Given the description of an element on the screen output the (x, y) to click on. 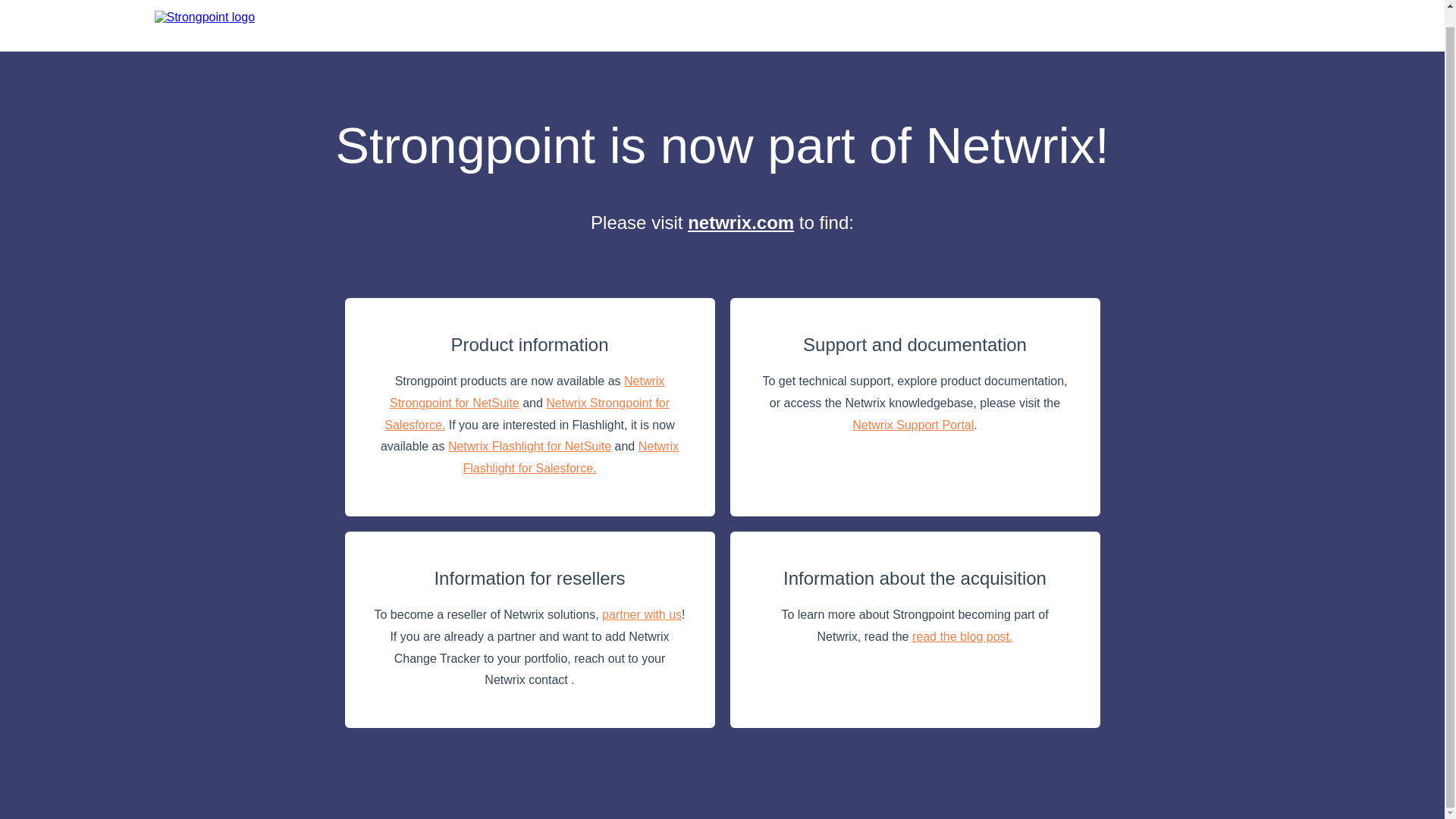
Netwrix Flashlight for NetSuite (529, 445)
Netwrix Support Portal (912, 424)
partner with us (641, 614)
Netwrix Strongpoint for Salesforce. (526, 413)
Netwrix Flashlight for Salesforce. (570, 457)
read the blog post. (962, 635)
netwrix.com (740, 222)
Netwrix Strongpoint for NetSuite (526, 391)
